Given the description of an element on the screen output the (x, y) to click on. 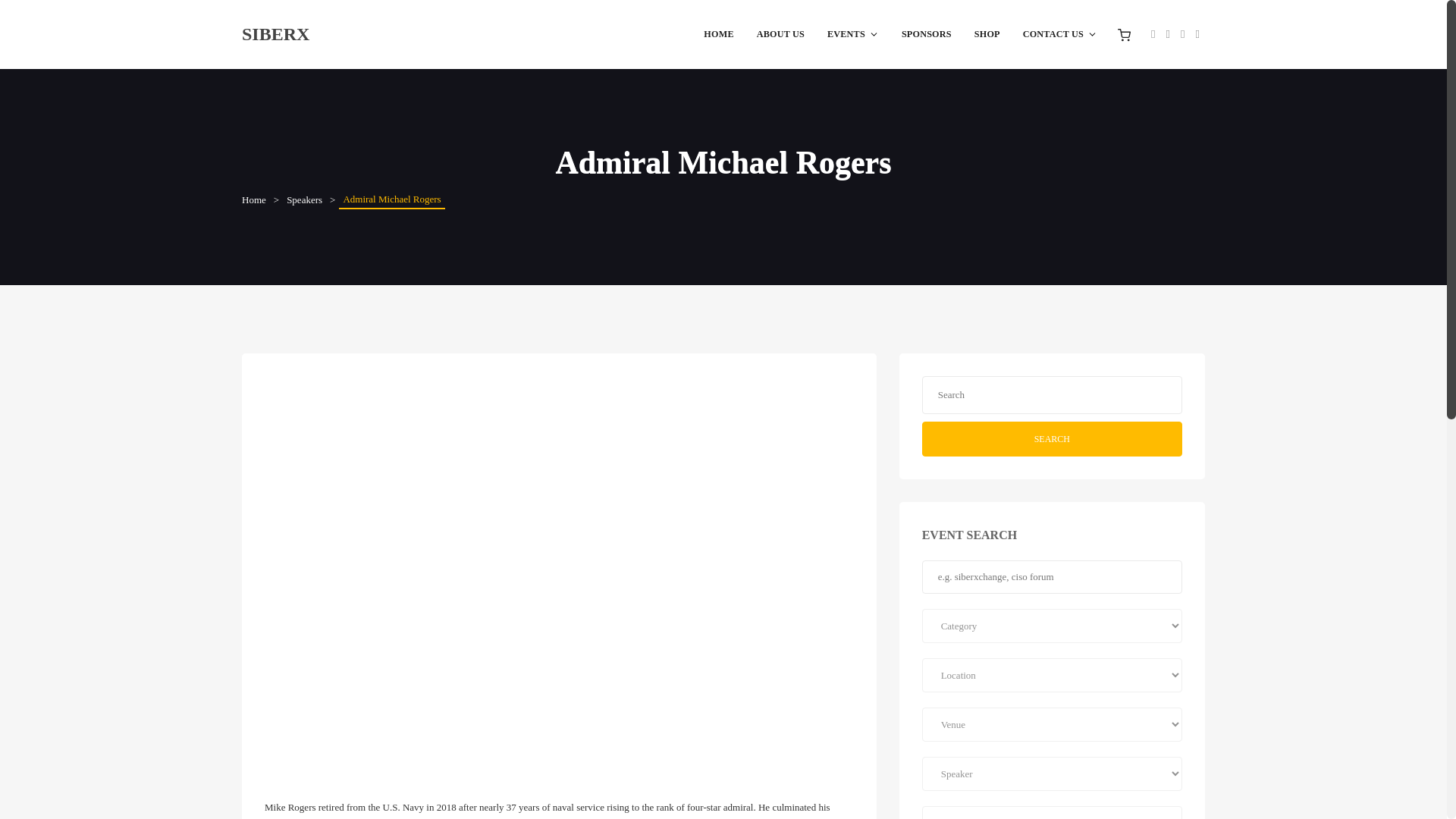
SIBERX (274, 33)
EVENTS (852, 33)
SHOP (986, 33)
ABOUT US (780, 33)
SPONSORS (925, 33)
HOME (718, 33)
Home (253, 199)
CONTACT US (1059, 33)
